Given the description of an element on the screen output the (x, y) to click on. 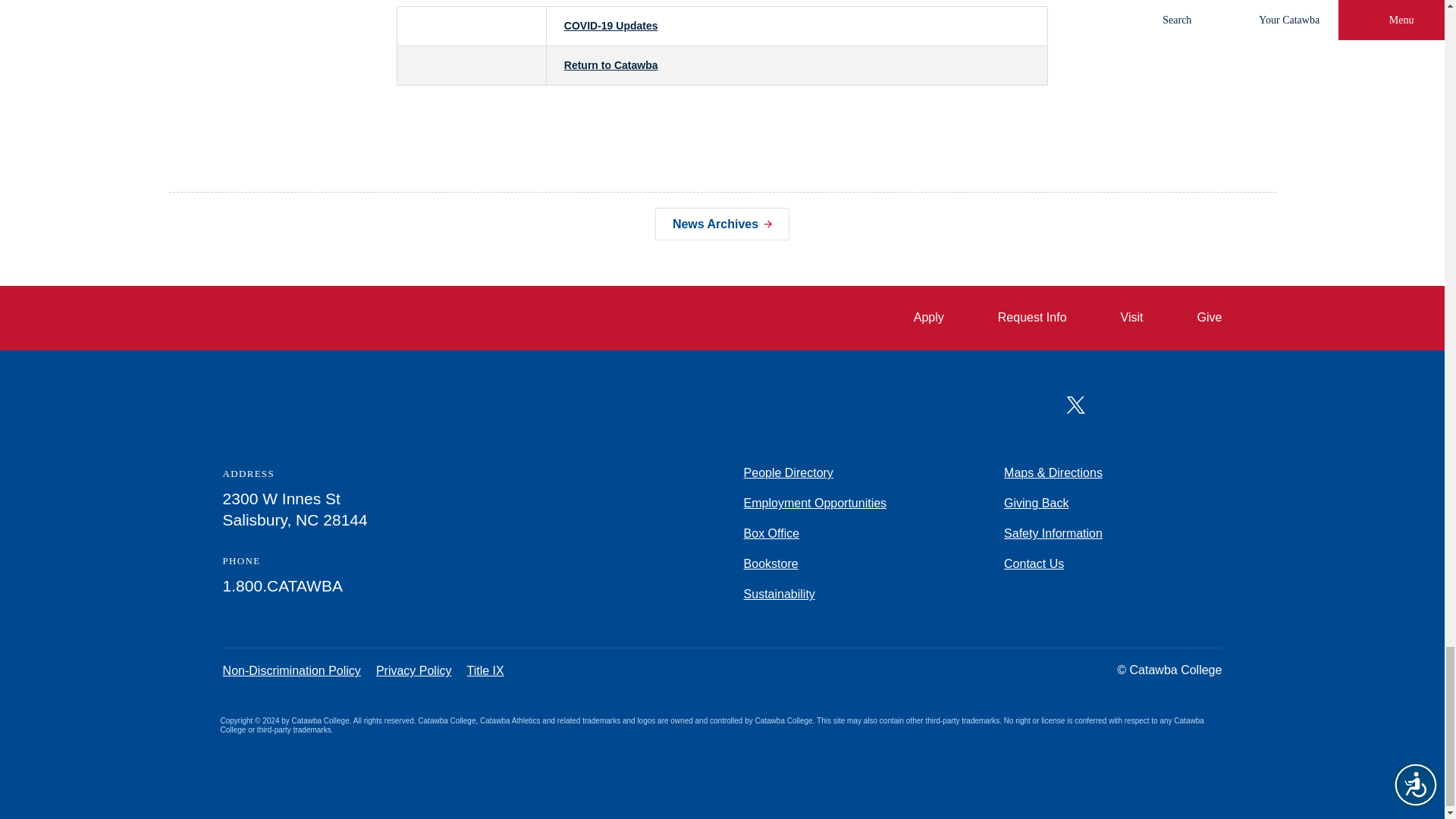
COVID-19 Updates (611, 25)
News Archives (722, 224)
Apply (915, 317)
Request Info (1019, 317)
Return to Catawba (611, 64)
